Given the description of an element on the screen output the (x, y) to click on. 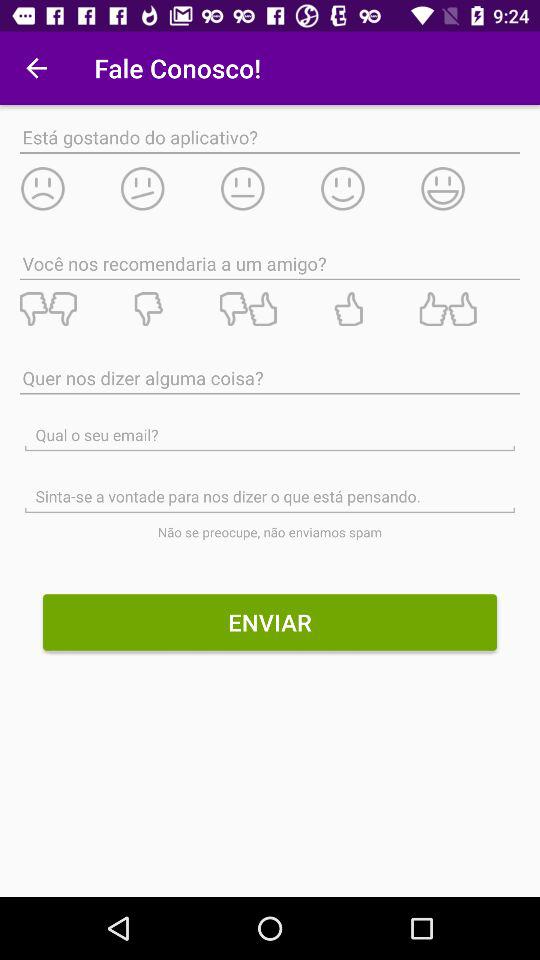
very happy reaction (469, 188)
